Given the description of an element on the screen output the (x, y) to click on. 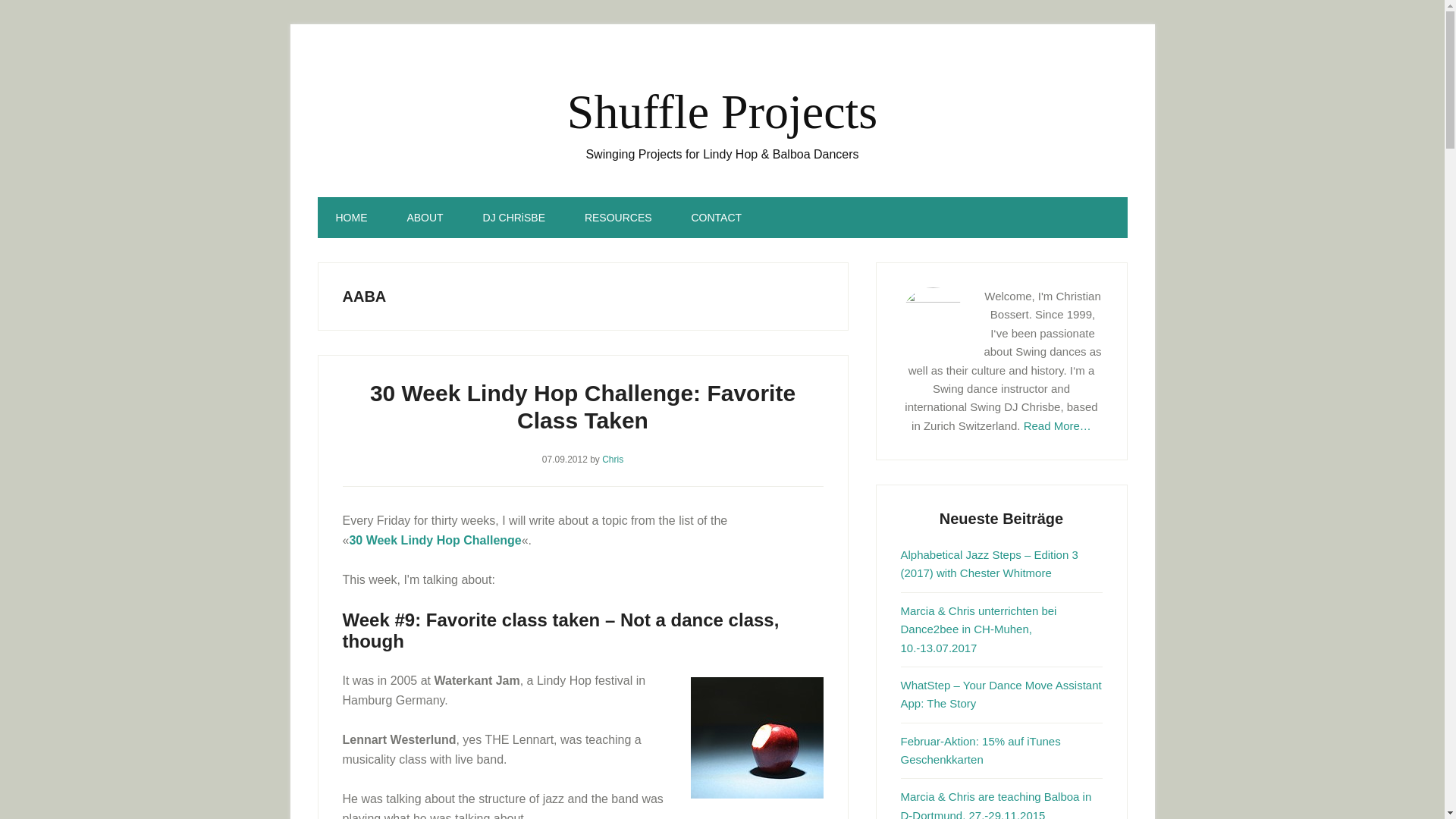
DJ CHRiSBE (513, 217)
Favorite Class Taken (756, 737)
CONTACT (716, 217)
RESOURCES (617, 217)
30 Week Lindy Hop Challenge: Favorite Class Taken (581, 406)
ABOUT (424, 217)
Chris (612, 459)
HOME (351, 217)
Shuffle Projects (722, 111)
30 Week Lindy Hop Challenge (435, 540)
